Given the description of an element on the screen output the (x, y) to click on. 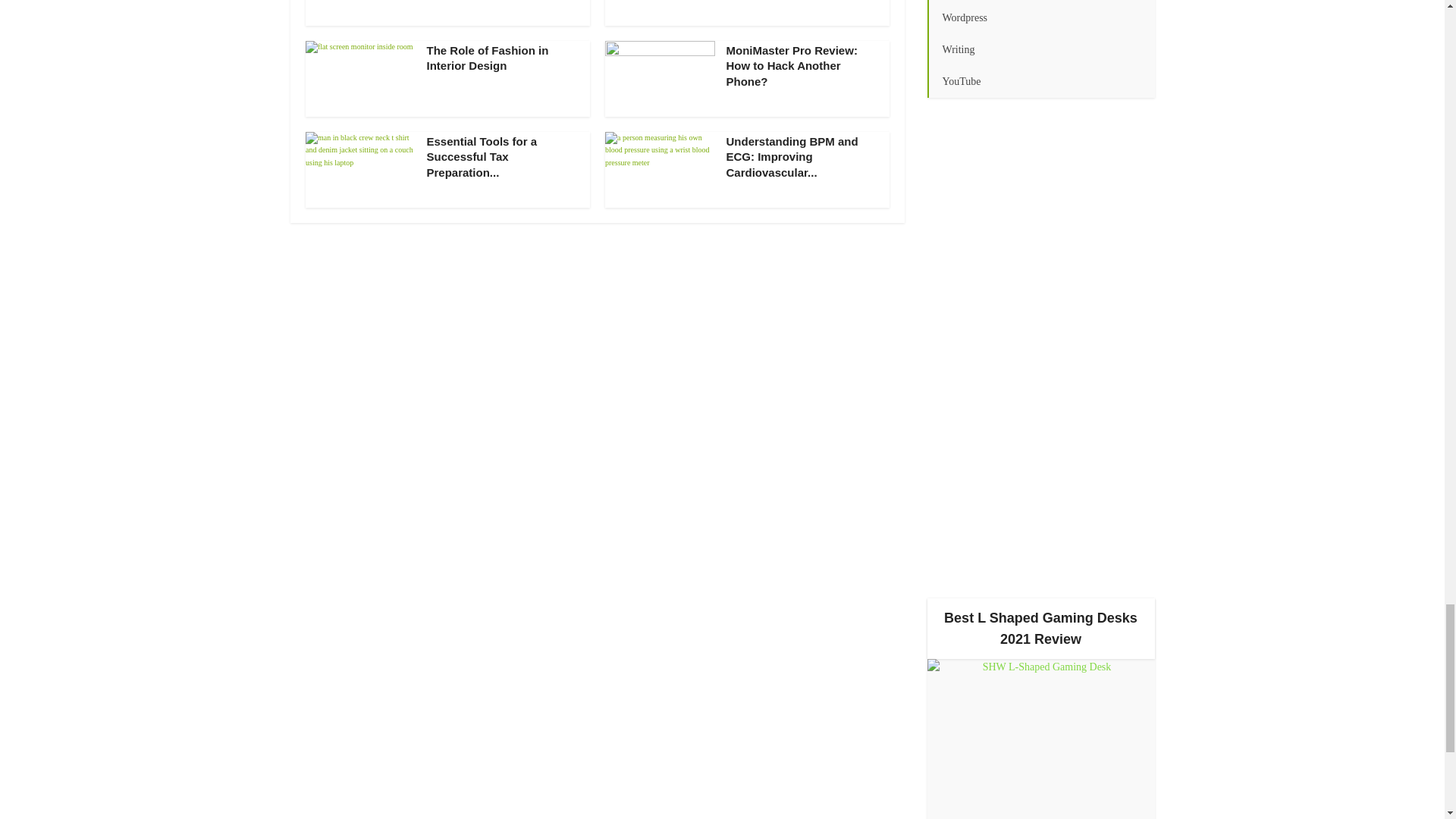
MoniMaster Pro Review: How to Hack Another Phone? (791, 65)
Understanding BPM and ECG: Improving Cardiovascular... (792, 157)
MoniMaster Pro Review: How to Hack Another Phone? (791, 65)
Essential Tools for a Successful Tax Preparation... (481, 157)
The Role of Fashion in Interior Design (487, 58)
The Role of Fashion in Interior Design (487, 58)
